Given the description of an element on the screen output the (x, y) to click on. 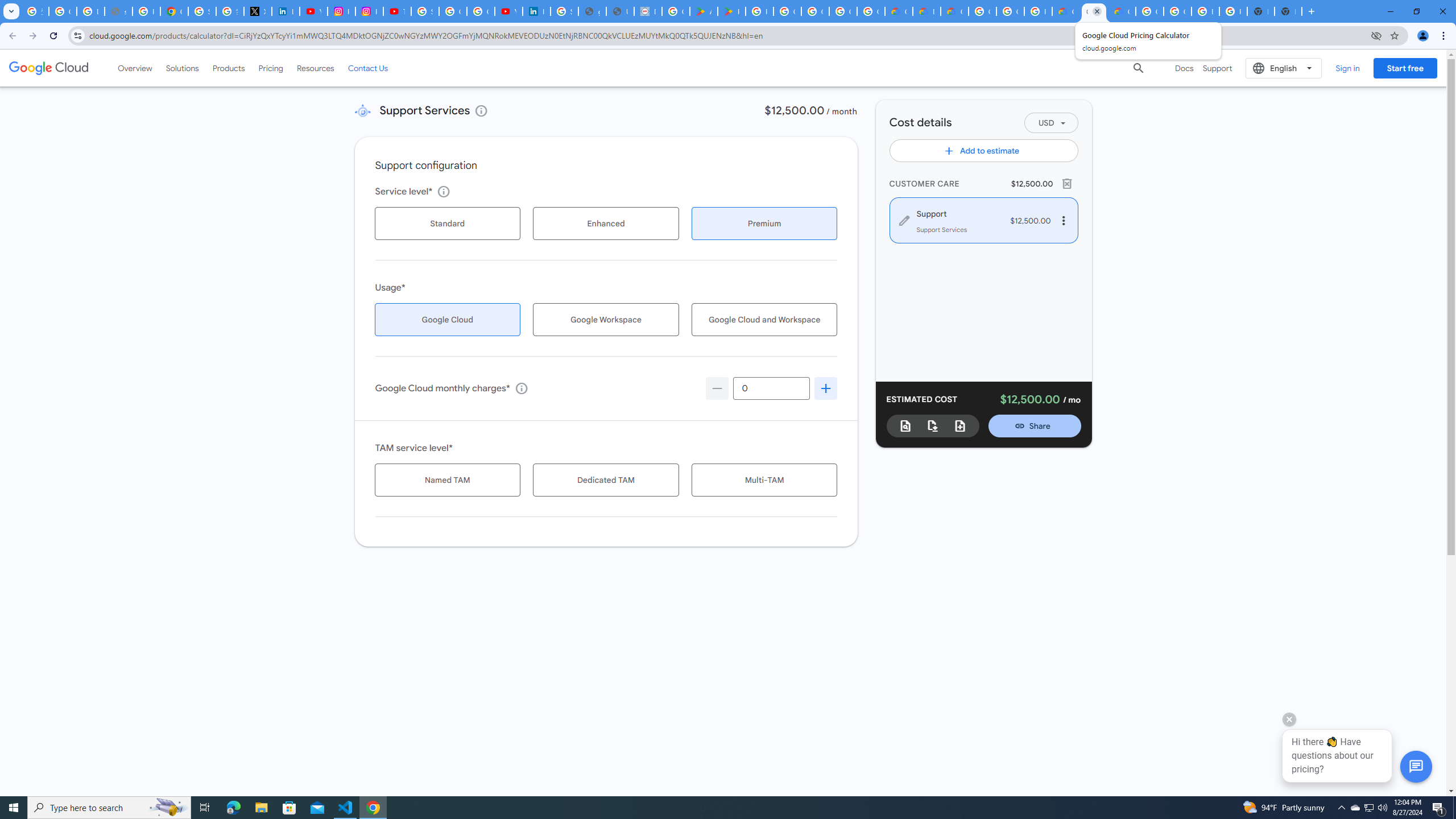
Add to estimate (983, 150)
Open currency selector (1050, 122)
More options (1062, 219)
Sign in - Google Accounts (202, 11)
Decrement (716, 387)
Resources (314, 67)
